Given the description of an element on the screen output the (x, y) to click on. 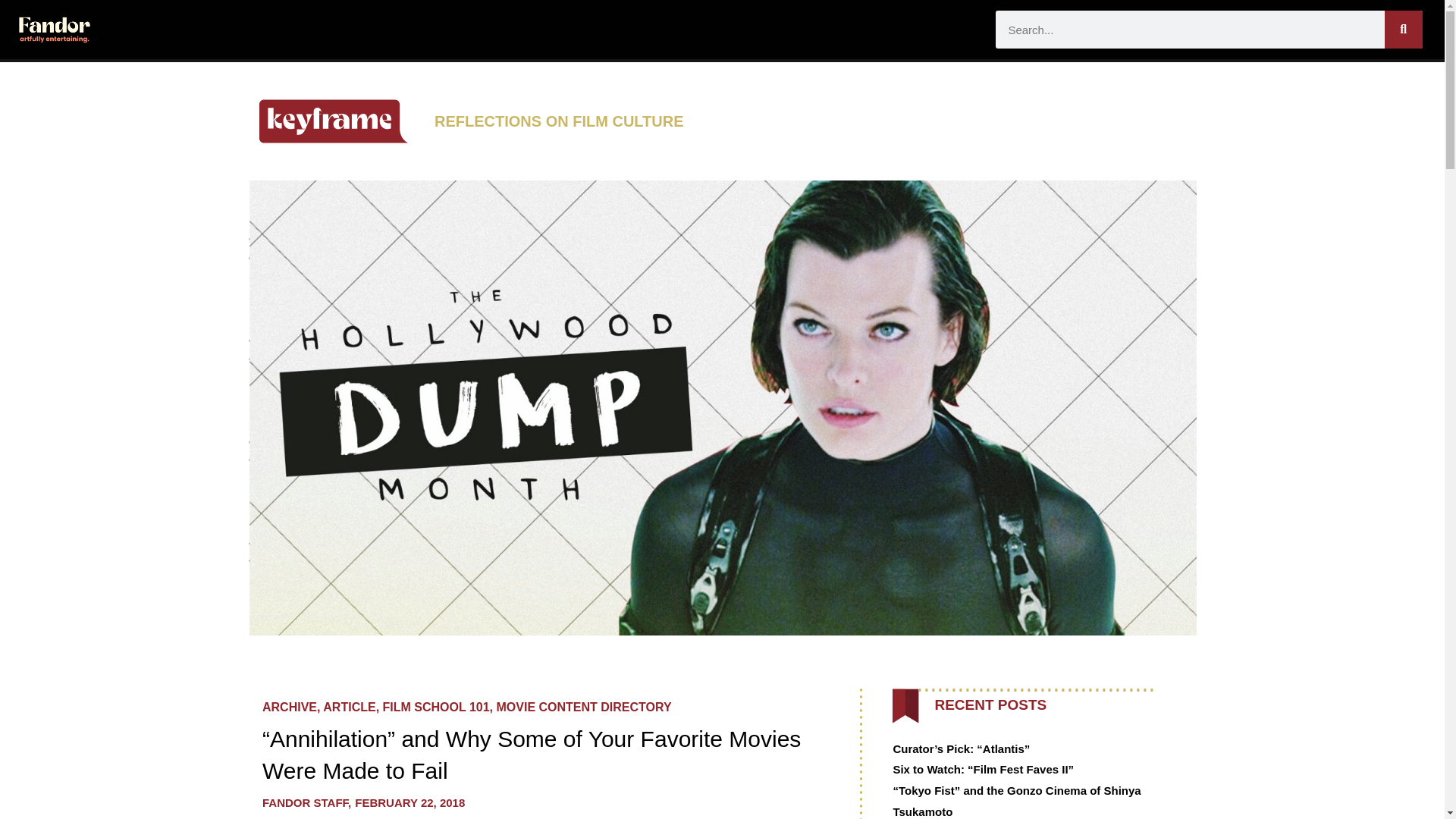
ARCHIVE (289, 707)
MOVIE CONTENT DIRECTORY (583, 707)
Search (1403, 29)
ARTICLE (349, 707)
FILM SCHOOL 101 (435, 707)
